Given the description of an element on the screen output the (x, y) to click on. 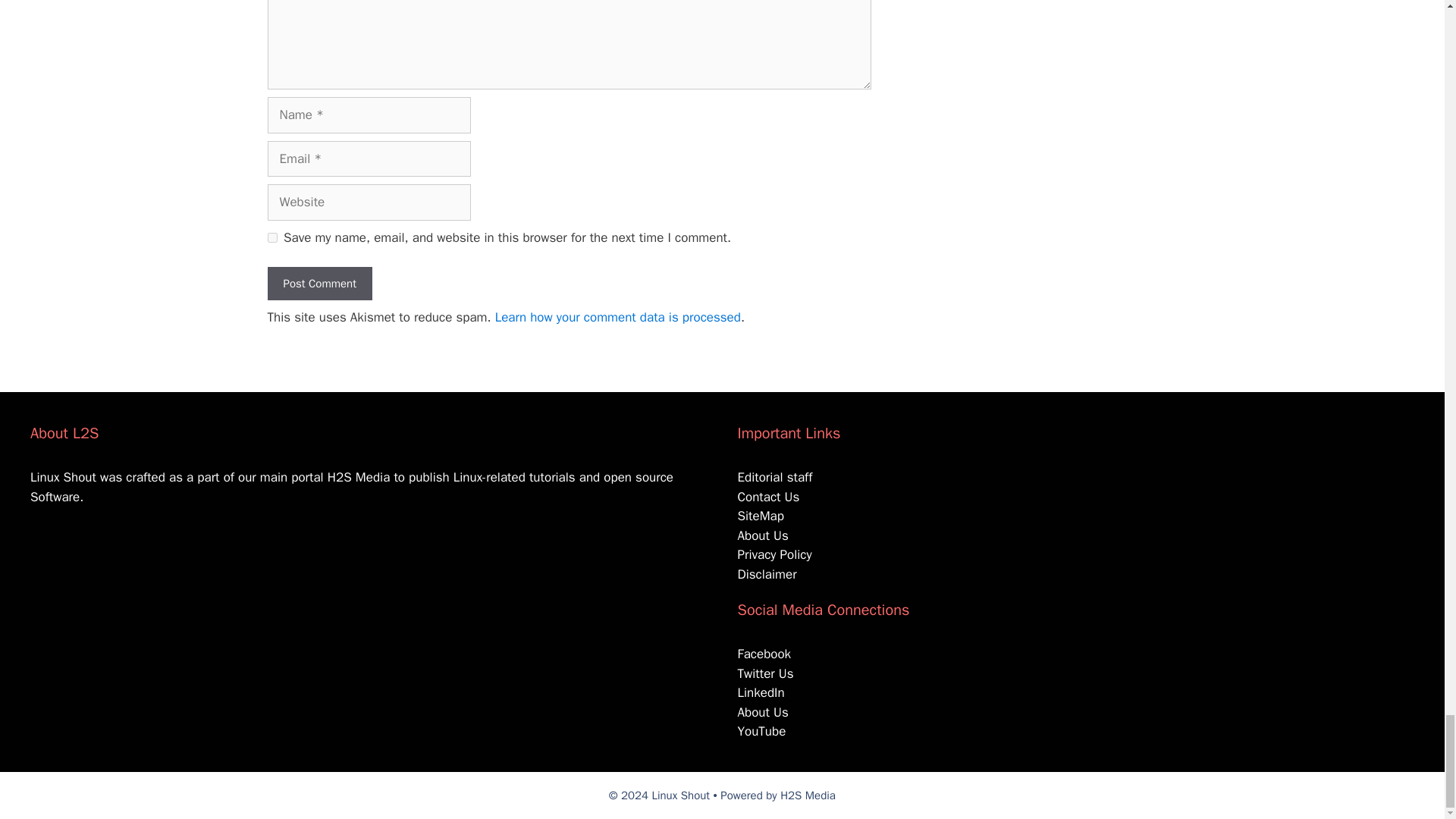
yes (271, 237)
Post Comment (318, 283)
